Given the description of an element on the screen output the (x, y) to click on. 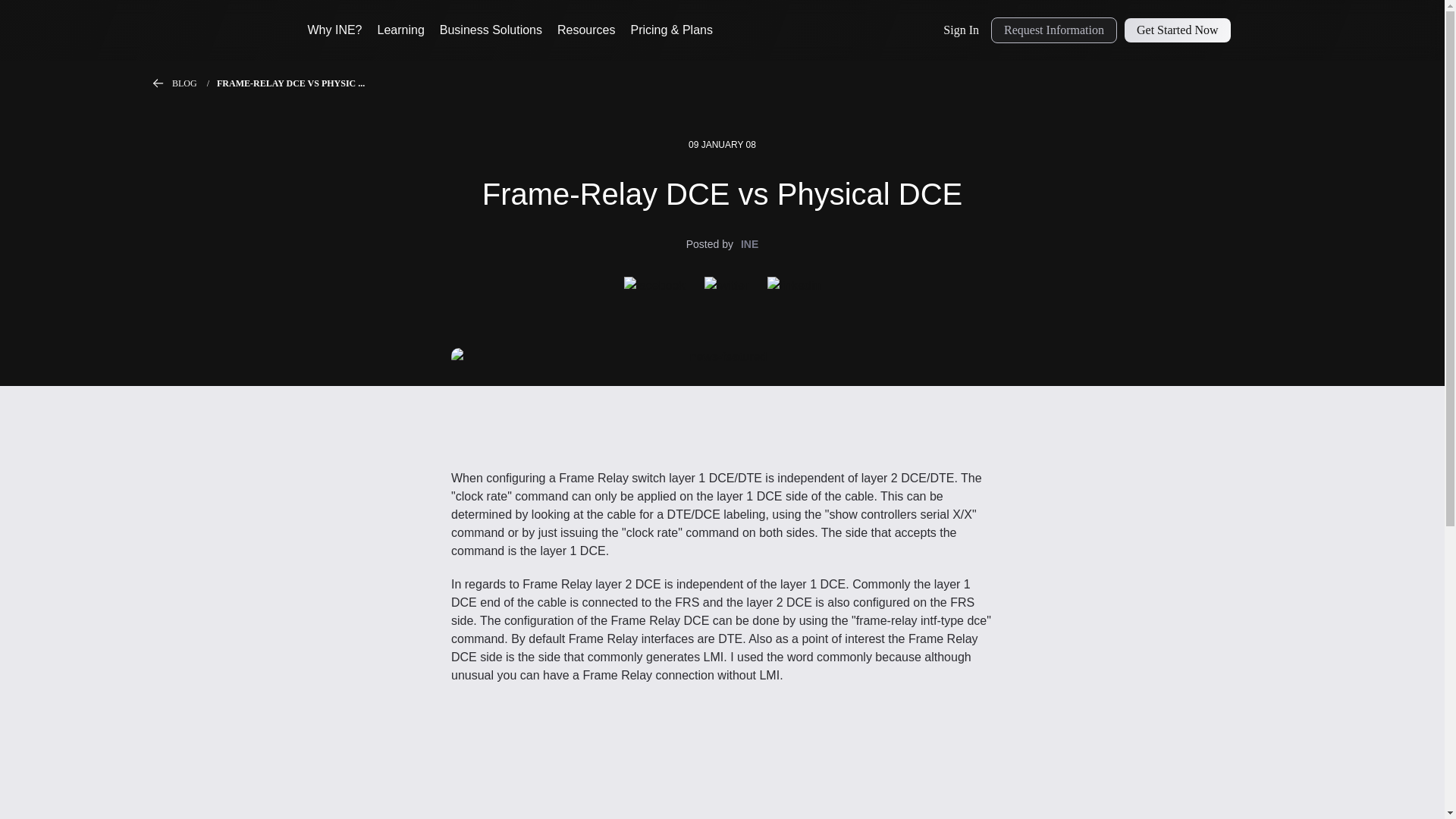
Why INE? (334, 30)
BLOG (193, 83)
Sign In (961, 30)
Request Information (1053, 30)
Get Started Now (1177, 30)
Business Solutions (490, 30)
Resources (585, 30)
